Given the description of an element on the screen output the (x, y) to click on. 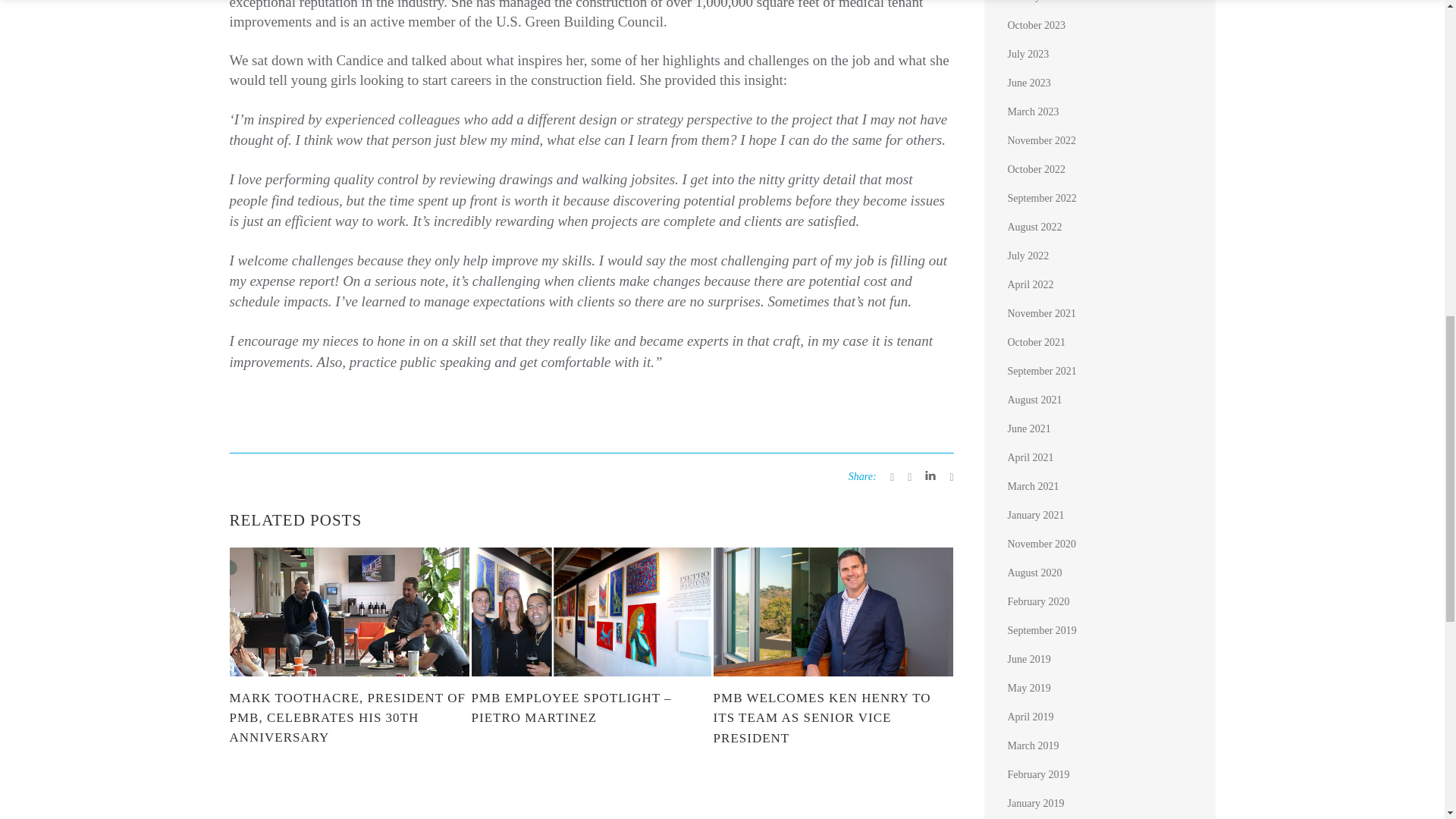
PMB Welcomes Ken Henry to its Team as Senior Vice President (833, 718)
